Given the description of an element on the screen output the (x, y) to click on. 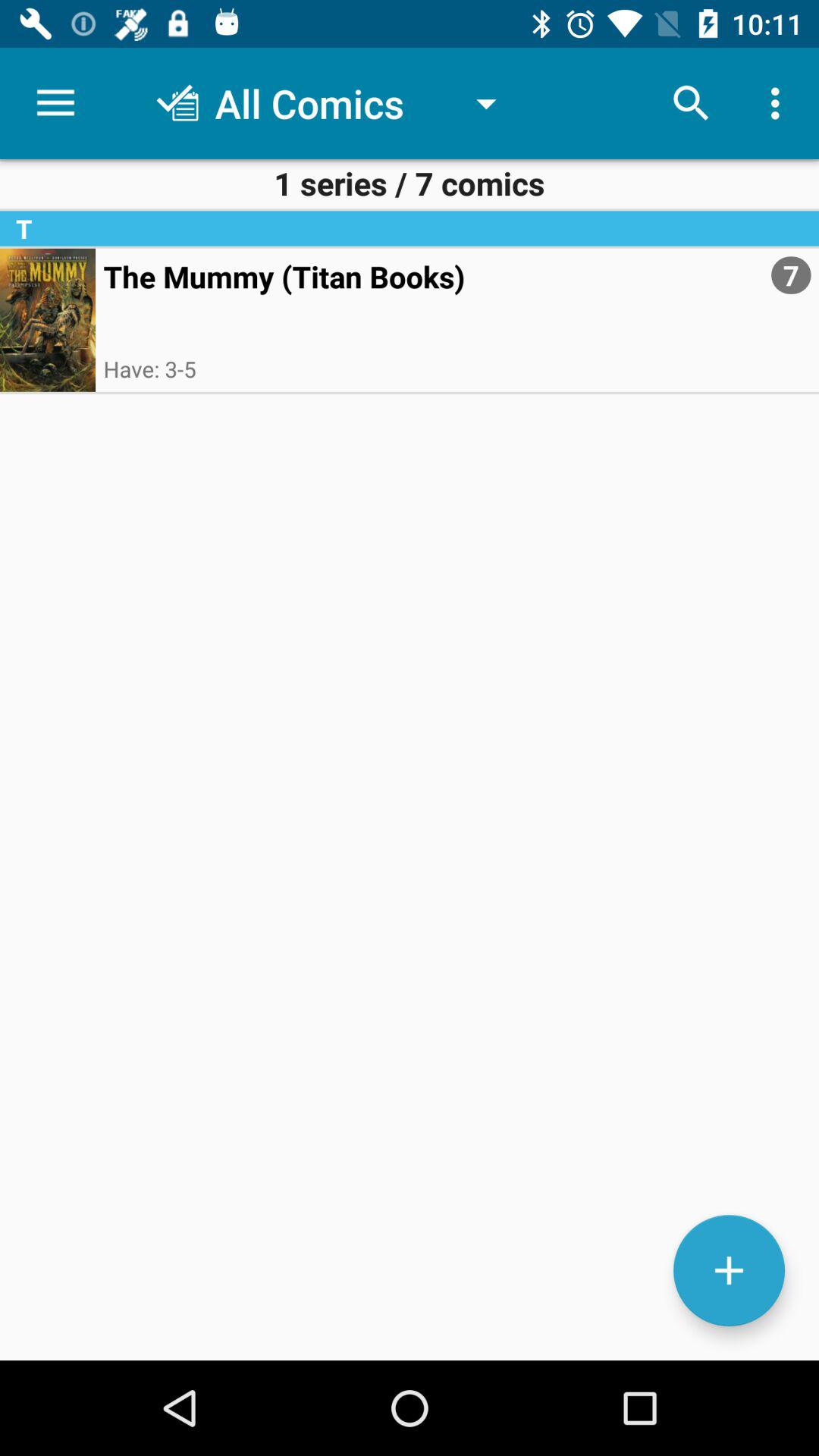
go to add button (728, 1270)
